Given the description of an element on the screen output the (x, y) to click on. 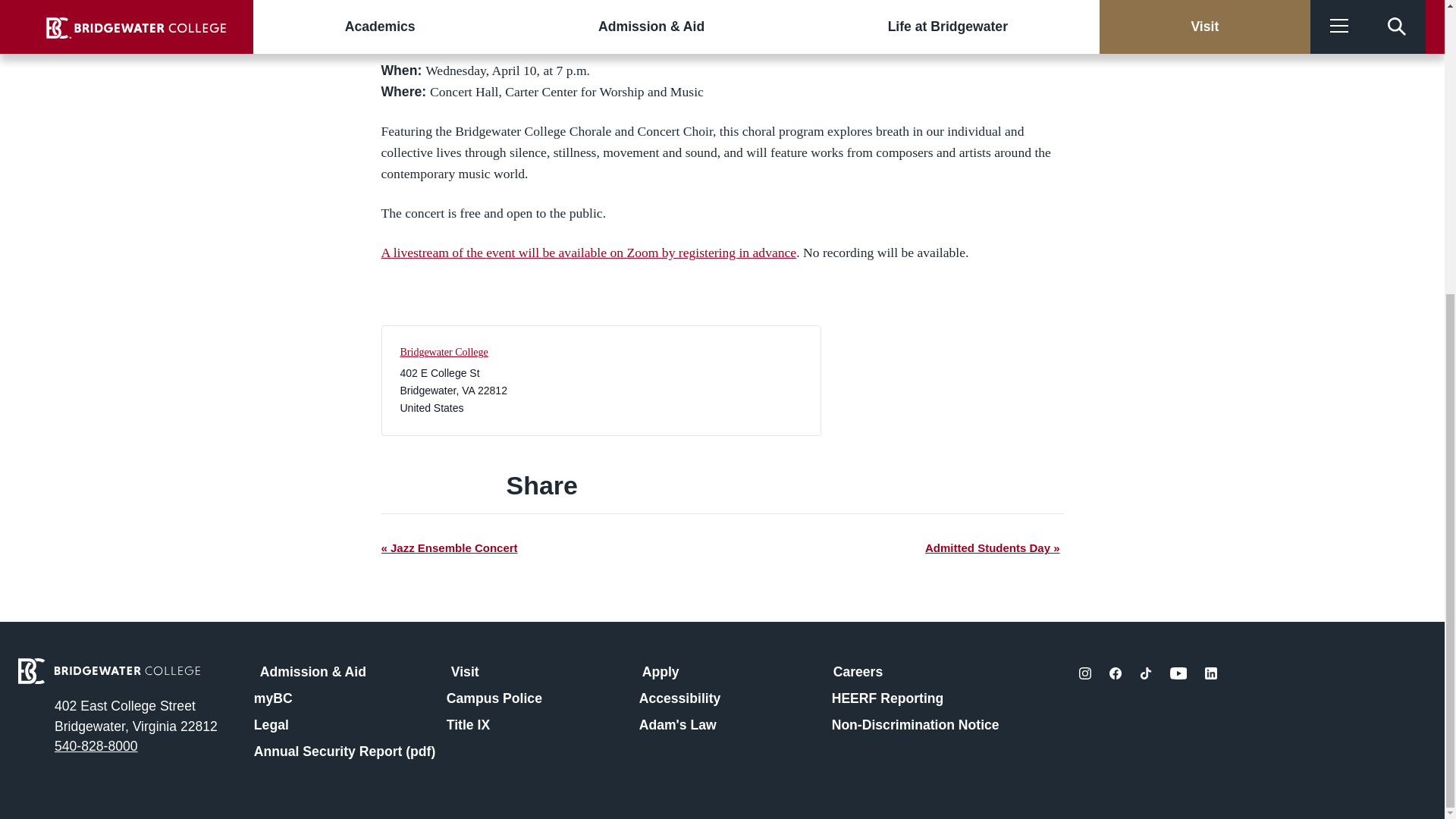
Bridgewater College (443, 351)
social-facebook (1115, 673)
social-instagram-fill (1084, 673)
social-youtube (1178, 673)
